Given the description of an element on the screen output the (x, y) to click on. 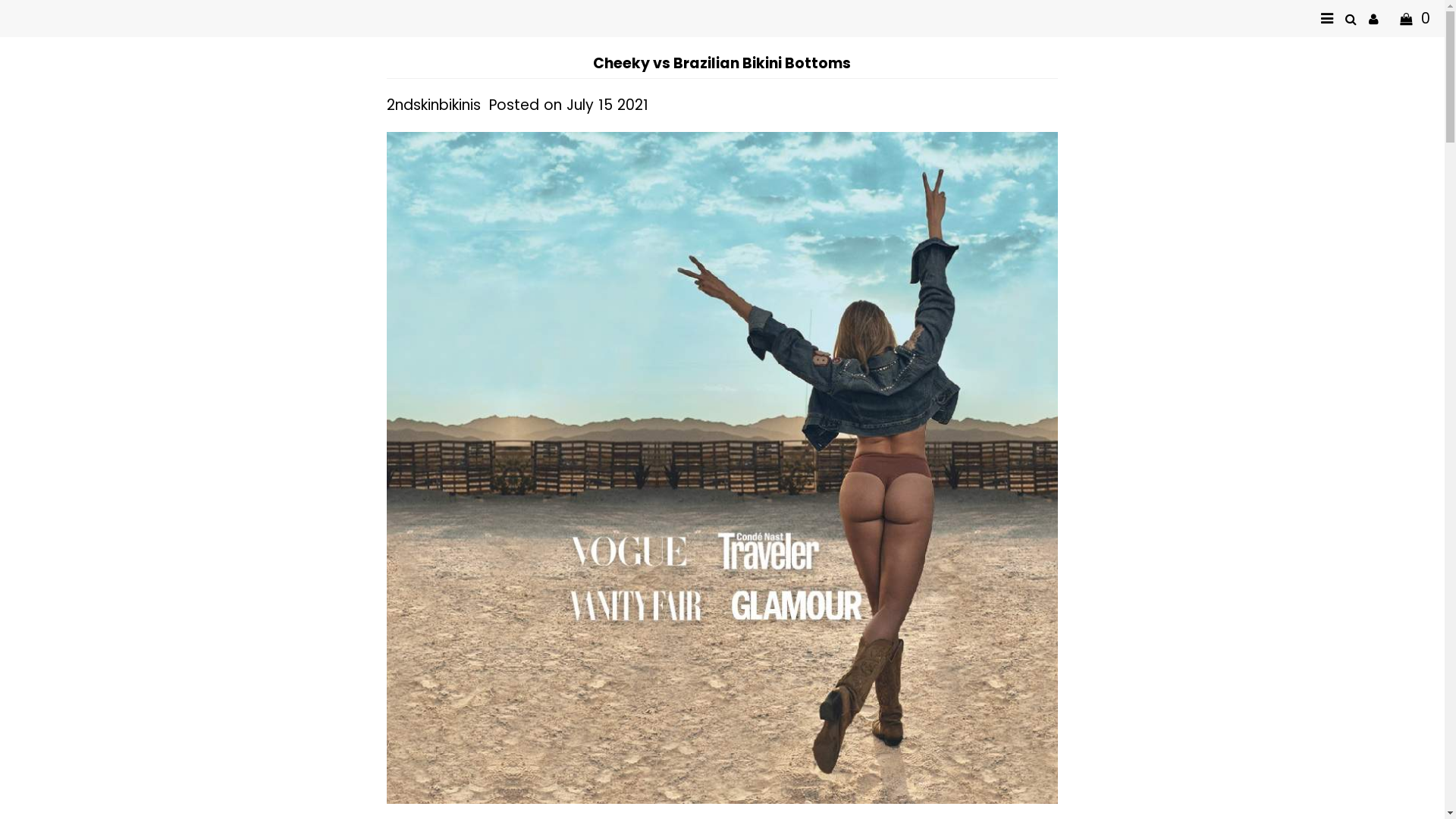
    0 Element type: text (1410, 18)
